Given the description of an element on the screen output the (x, y) to click on. 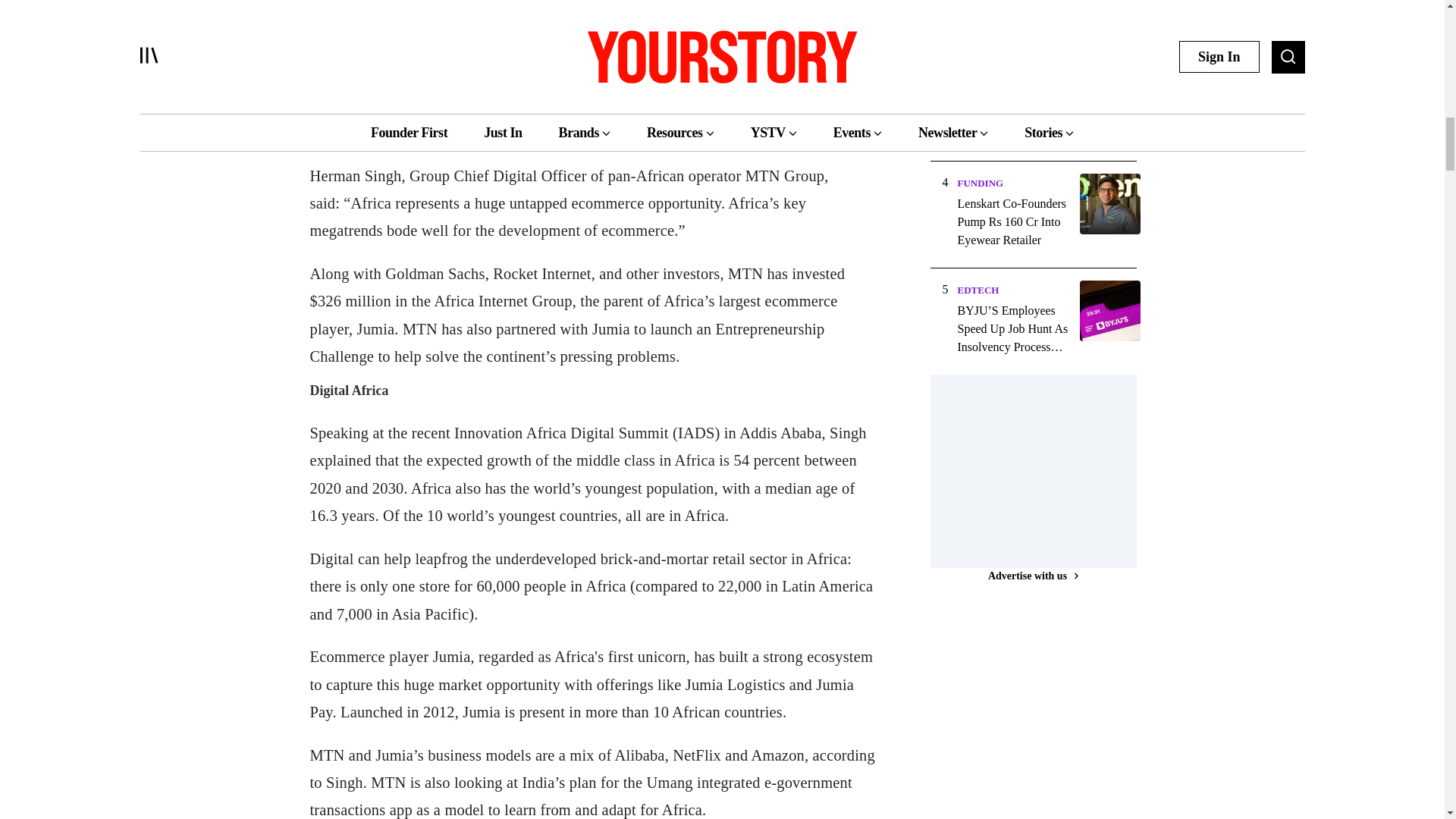
NEWS (970, 75)
3rd party ad content (1043, 469)
Top 5 Free AI Image Generators To Elevate Your Designs (1013, 18)
3rd party ad content (1043, 707)
